Given the description of an element on the screen output the (x, y) to click on. 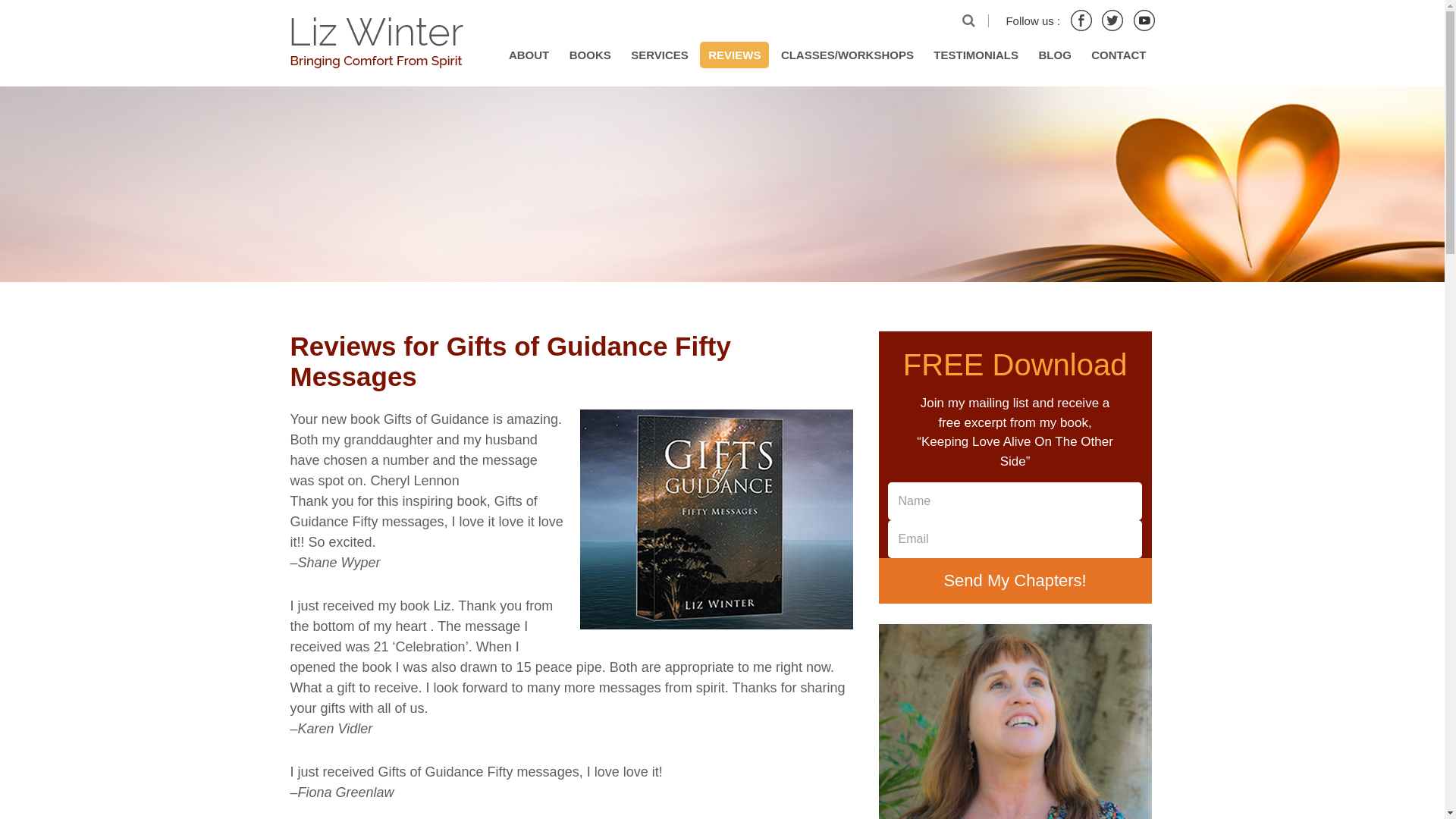
BLOG (1053, 54)
Schedule a Consultation (1015, 721)
Send My Chapters! (1015, 580)
BOOKS (590, 54)
SERVICES (660, 54)
ABOUT (528, 54)
Send My Chapters! (1015, 580)
REVIEWS (734, 54)
TESTIMONIALS (975, 54)
CONTACT (1118, 54)
